Given the description of an element on the screen output the (x, y) to click on. 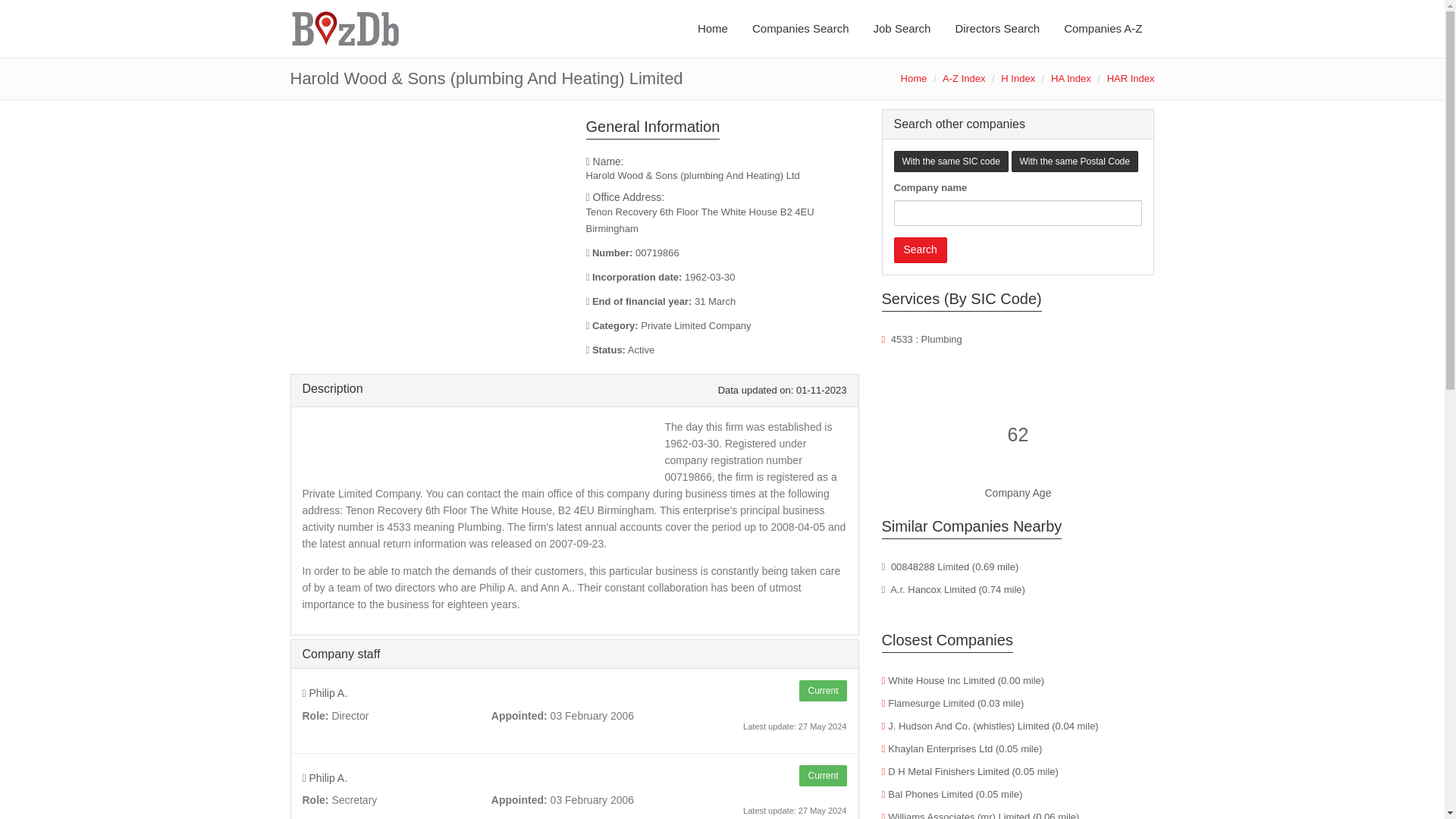
H Index (1018, 78)
The company is currently active (722, 350)
A-Z Index (963, 78)
H Index (1018, 78)
Current (822, 775)
HA Index (1070, 78)
HAR Index (1130, 78)
Job Search (902, 28)
Companies Search (800, 28)
the day the company was formed (722, 277)
Home (914, 78)
Home (914, 78)
HAR Index (1130, 78)
With the same SIC code (950, 160)
With the same Postal Code (1074, 160)
